Given the description of an element on the screen output the (x, y) to click on. 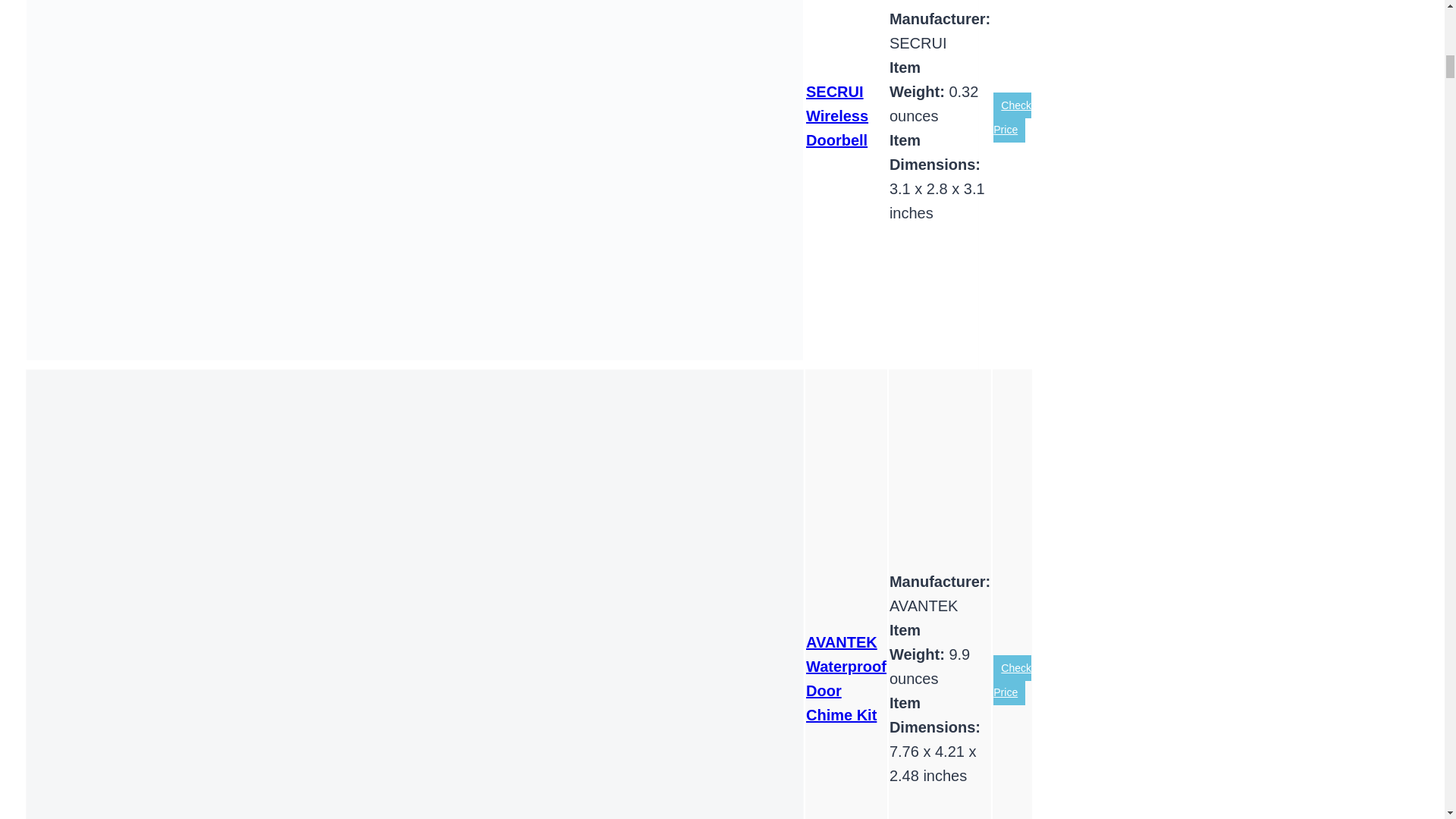
AVANTEK Waterproof Door Chime Kit (846, 678)
SECRUI Wireless Doorbell (836, 115)
